Given the description of an element on the screen output the (x, y) to click on. 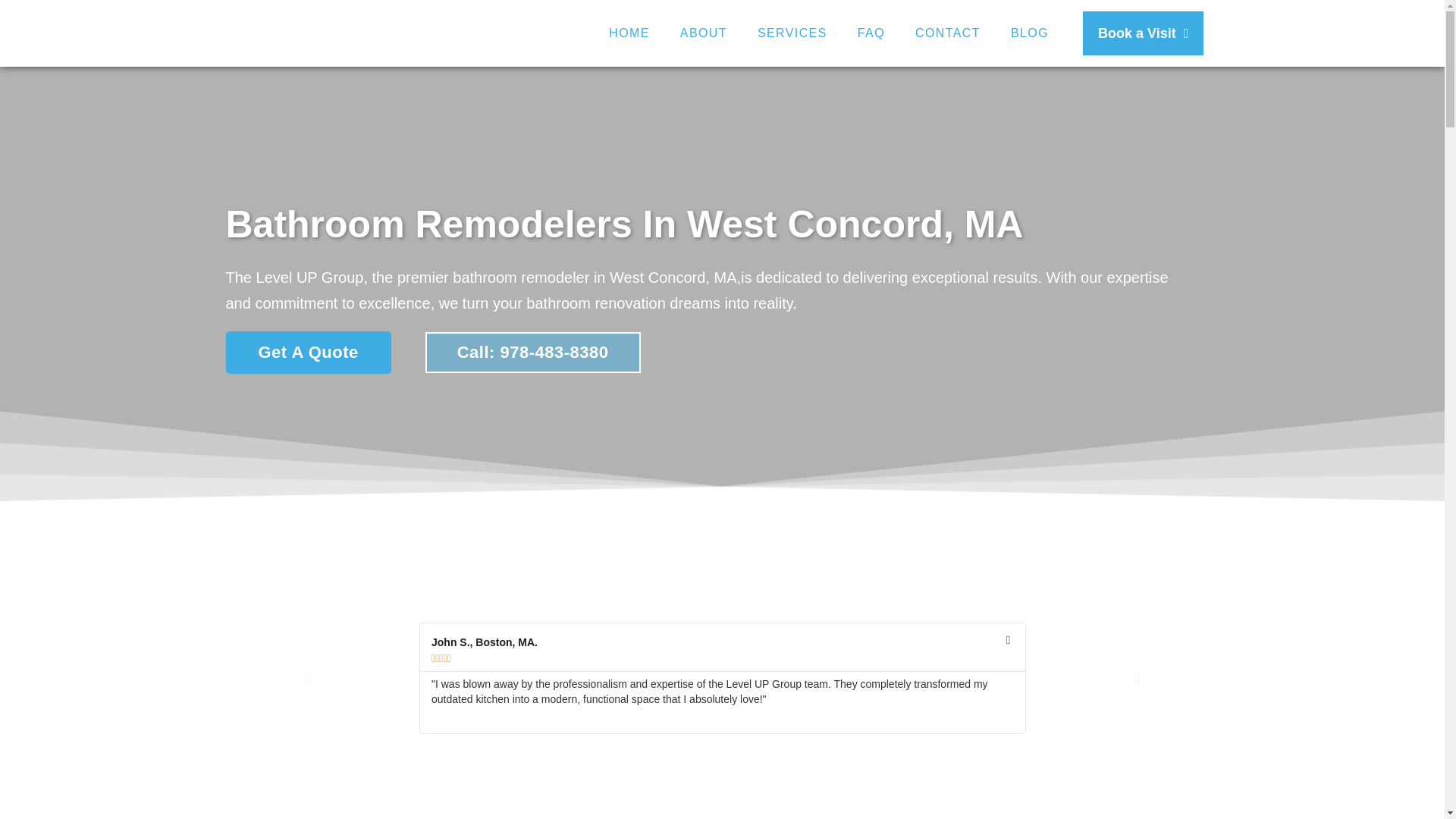
CONTACT (947, 32)
FAQ (871, 32)
SERVICES (792, 32)
Call: 978-483-8380 (532, 352)
Book a Visit (1143, 33)
ABOUT (703, 32)
Get A Quote (308, 351)
HOME (629, 32)
BLOG (1029, 32)
